Given the description of an element on the screen output the (x, y) to click on. 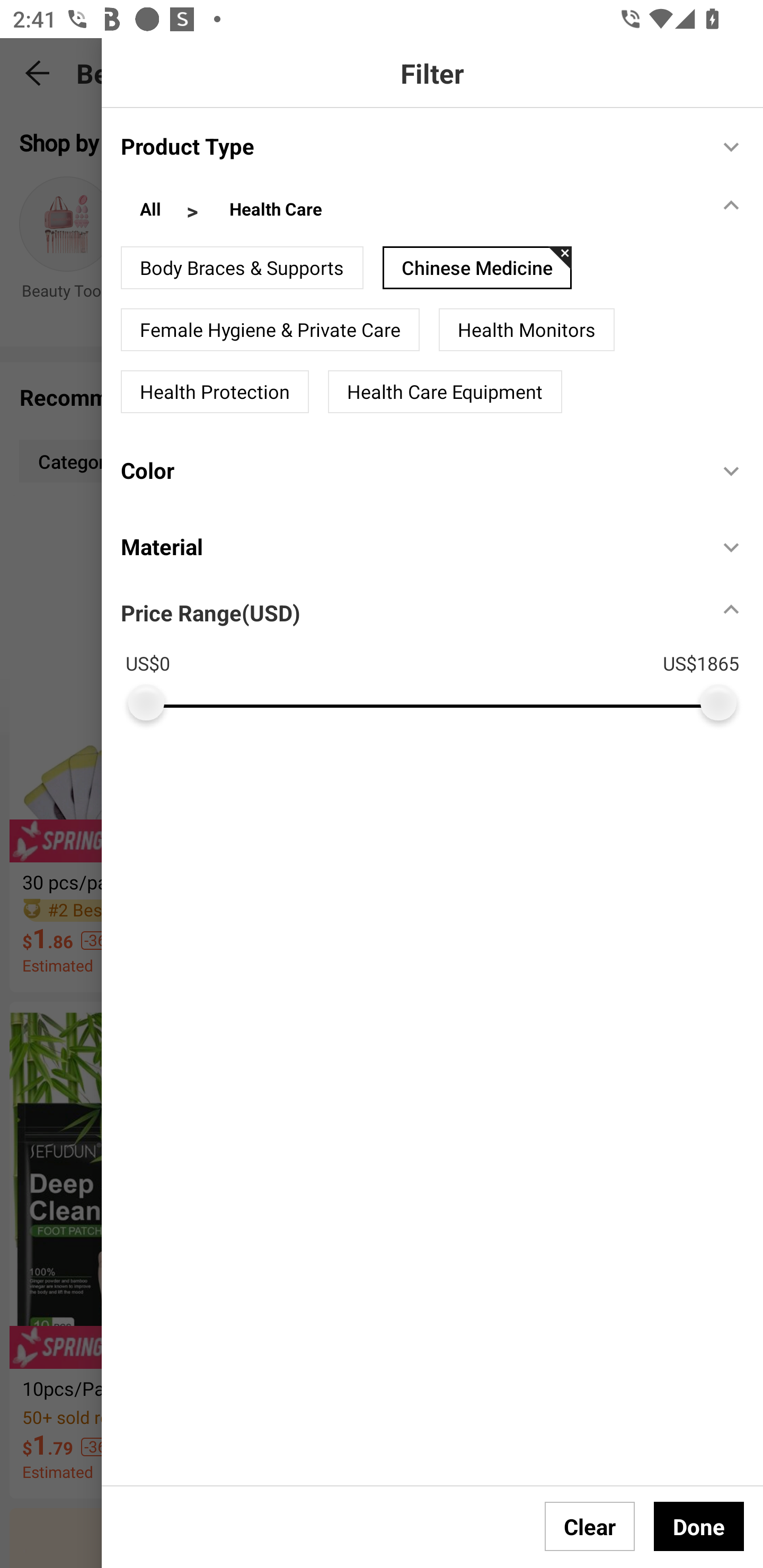
Beauty & Health change view Search Share (419, 72)
Product Type (409, 145)
All (150, 210)
> Health Care (263, 210)
Health Care (275, 210)
Body Braces & Supports (241, 267)
Chinese Medicine (476, 267)
Female Hygiene & Private Care (269, 329)
Health Monitors (526, 329)
Health Protection (214, 391)
Health Care Equipment (445, 391)
Color (409, 470)
Material (409, 546)
Price Range(USD) US$0 US$1865 (441, 652)
Price Range(USD) (210, 612)
Clear (589, 1526)
Done (698, 1526)
